Given the description of an element on the screen output the (x, y) to click on. 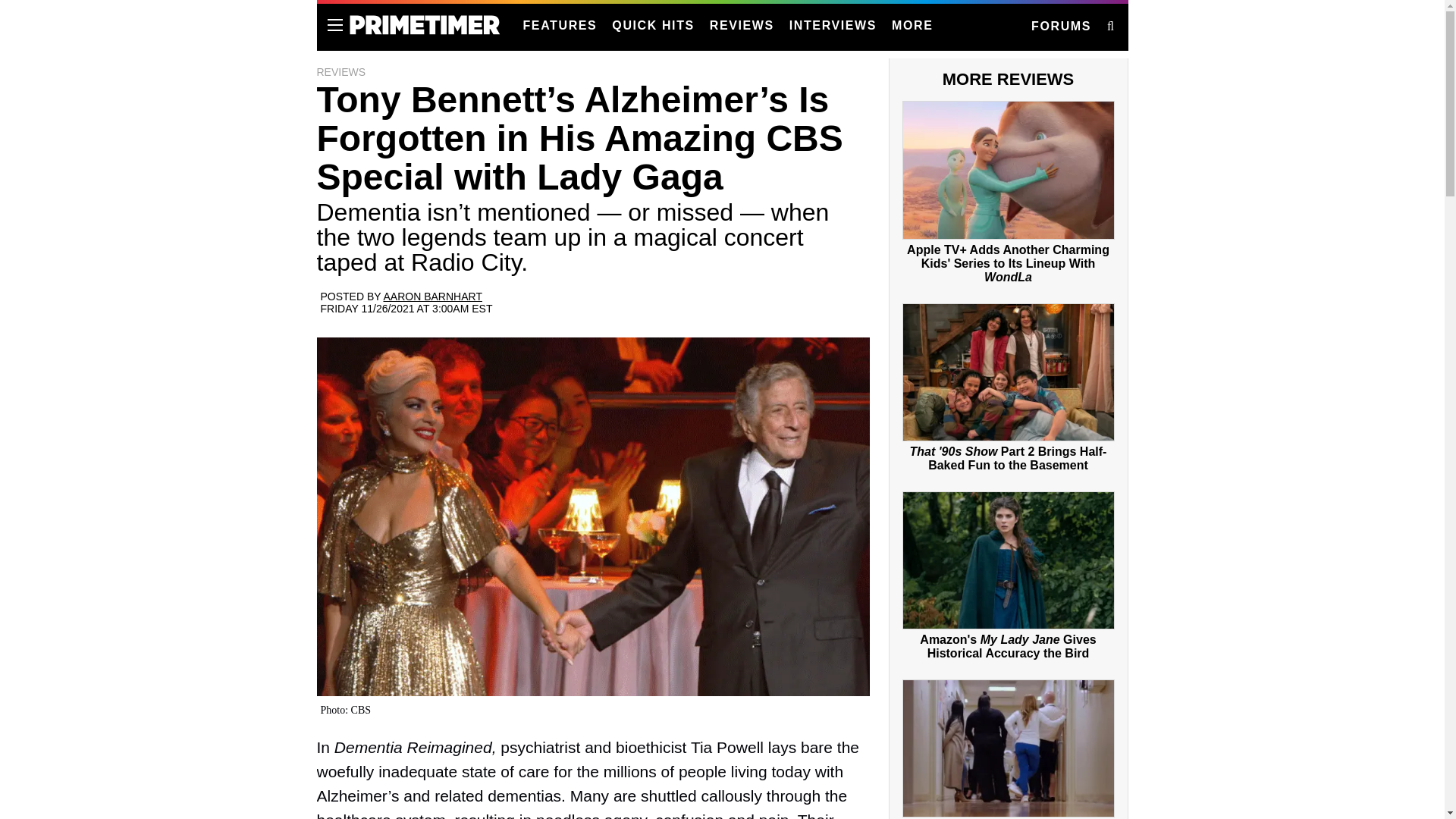
QUICK HITS (652, 26)
FORUMS (1060, 26)
INTERVIEWS (832, 26)
MORE (912, 26)
AARON BARNHART (432, 296)
FEATURES (559, 26)
REVIEWS (742, 26)
